Given the description of an element on the screen output the (x, y) to click on. 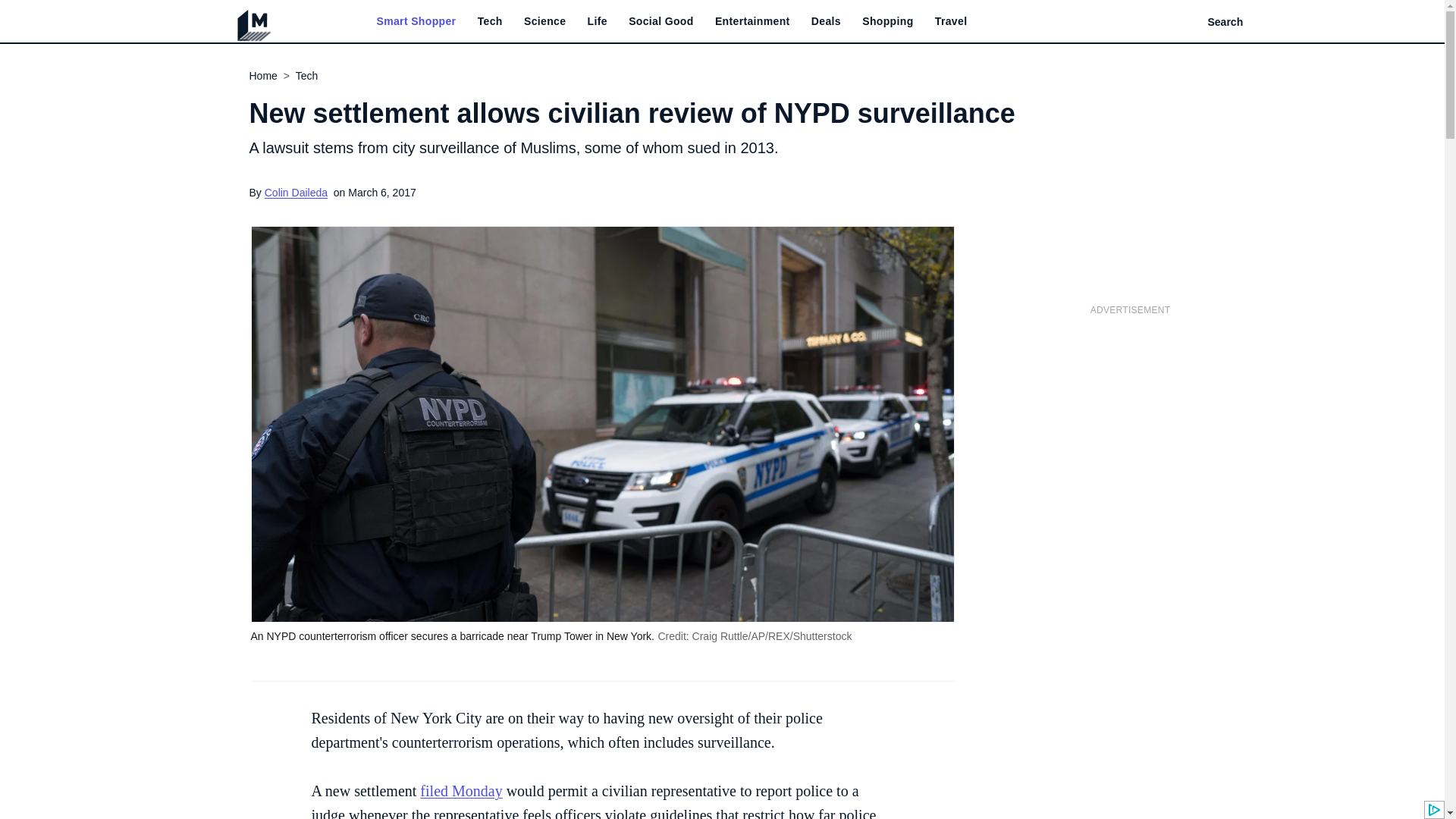
Travel (951, 21)
Smart Shopper (415, 21)
Deals (825, 21)
Shopping (886, 21)
Social Good (661, 21)
Science (545, 21)
Tech (489, 21)
Life (597, 21)
Entertainment (752, 21)
